Given the description of an element on the screen output the (x, y) to click on. 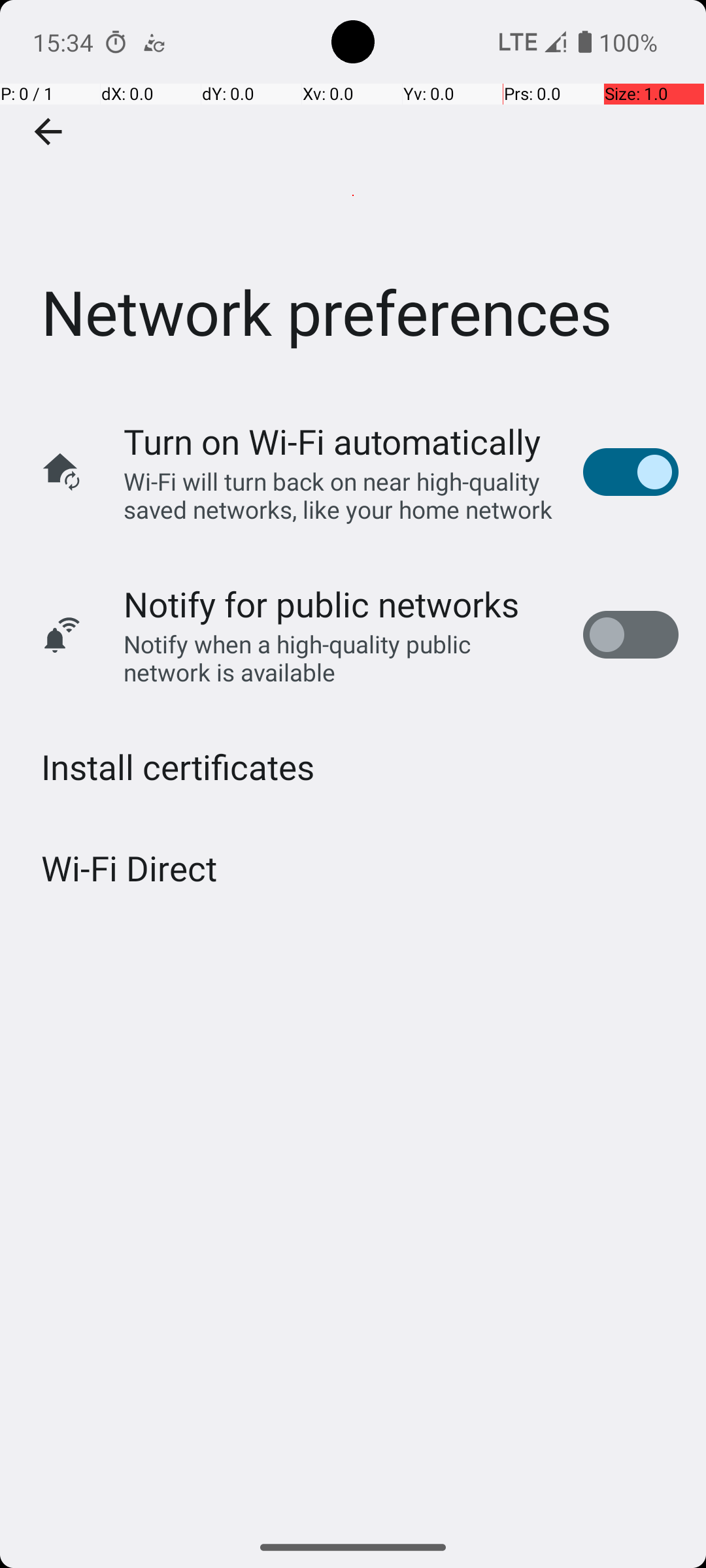
Network preferences Element type: android.widget.FrameLayout (353, 195)
Turn on Wi‑Fi automatically Element type: android.widget.TextView (332, 441)
Wi‑Fi will turn back on near high‑quality saved networks, like your home network Element type: android.widget.TextView (339, 494)
Notify for public networks Element type: android.widget.TextView (321, 603)
Notify when a high‑quality public network is available Element type: android.widget.TextView (339, 657)
Install certificates Element type: android.widget.TextView (178, 766)
Wi‑Fi Direct Element type: android.widget.TextView (129, 867)
